Given the description of an element on the screen output the (x, y) to click on. 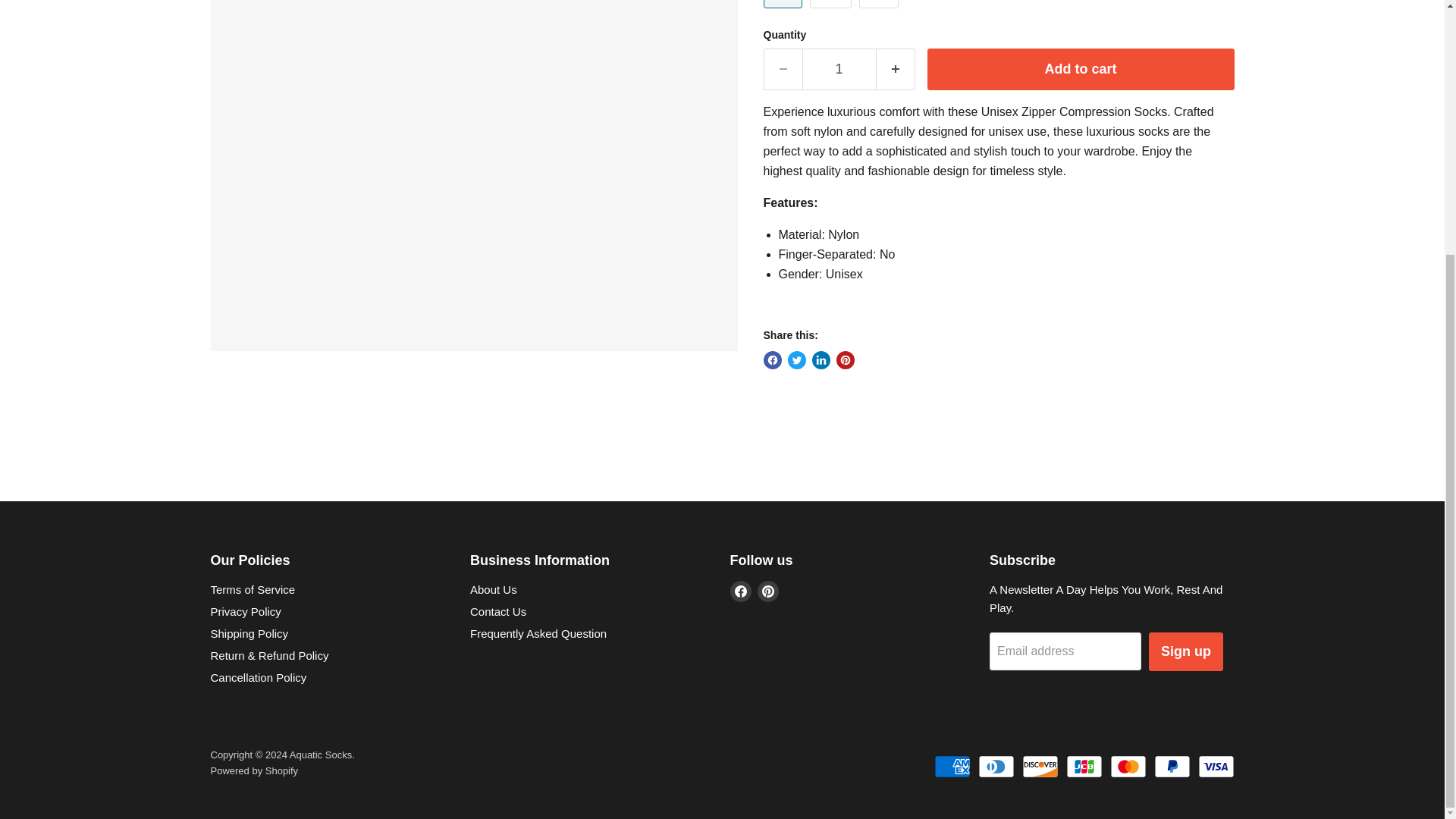
Visa (1216, 766)
Discover (1040, 766)
nylon (848, 234)
Diners Club (996, 766)
JCB (1083, 766)
PayPal (1172, 766)
Pinterest (767, 590)
1 (839, 69)
Facebook (740, 590)
Mastercard (1128, 766)
